Given the description of an element on the screen output the (x, y) to click on. 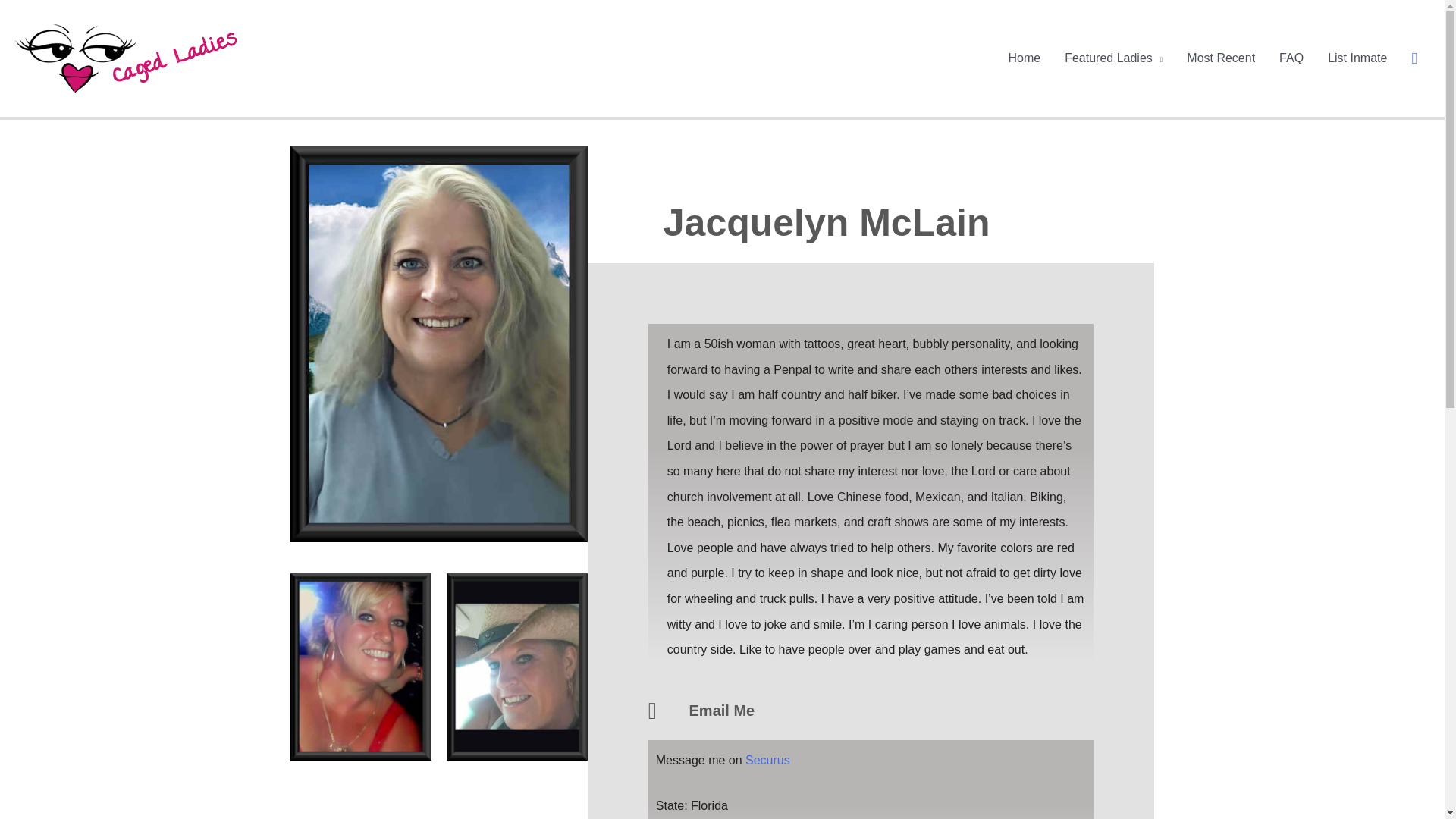
Most Recent (1220, 58)
FAQ (1291, 58)
Home (1023, 58)
Featured Ladies (1113, 58)
Securus (767, 759)
List Inmate (1357, 58)
